Given the description of an element on the screen output the (x, y) to click on. 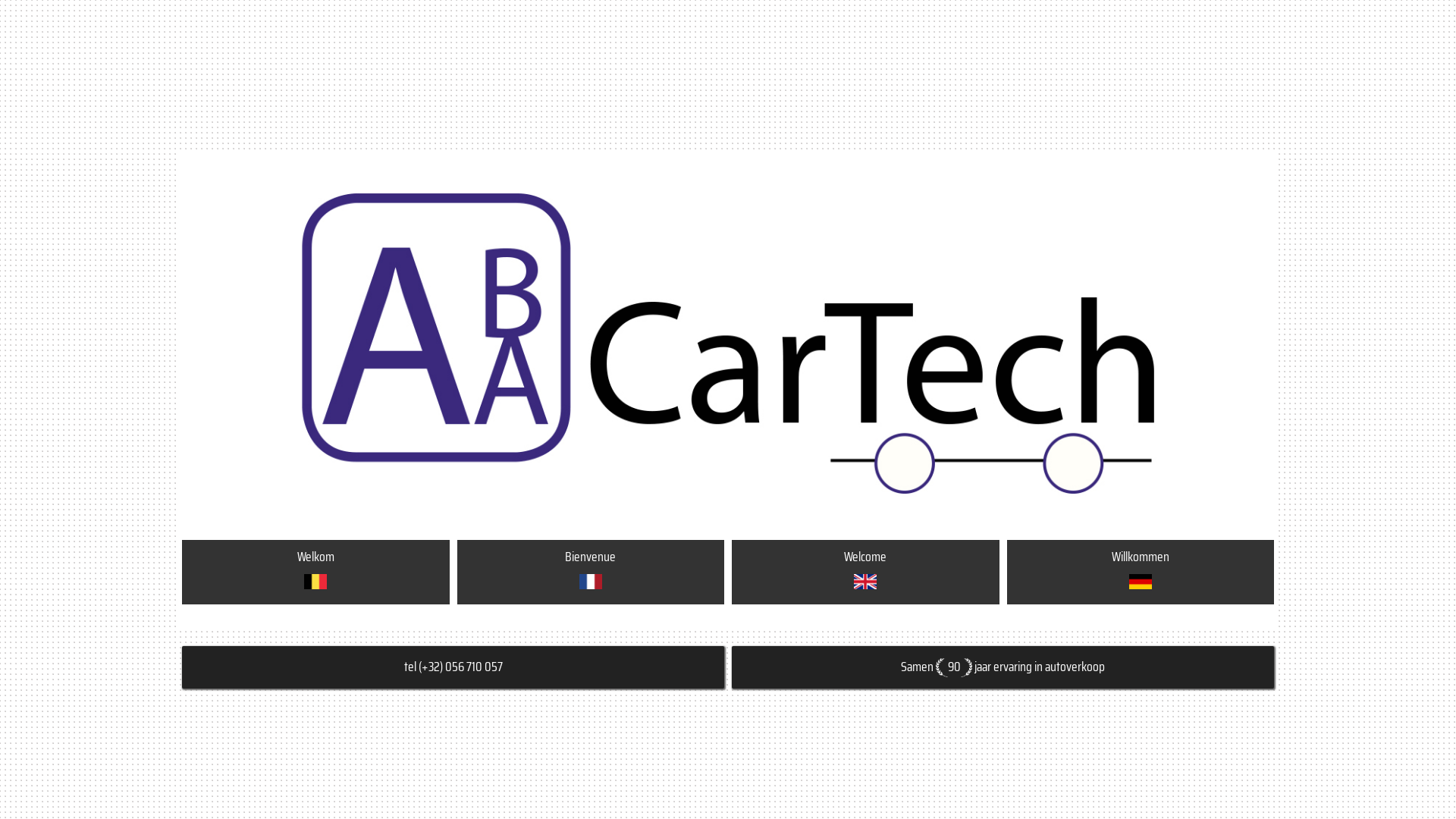
Welcome Element type: text (865, 571)
Bienvenue Element type: text (590, 571)
Willkommen Element type: text (1139, 571)
Welkom Element type: text (315, 571)
